Given the description of an element on the screen output the (x, y) to click on. 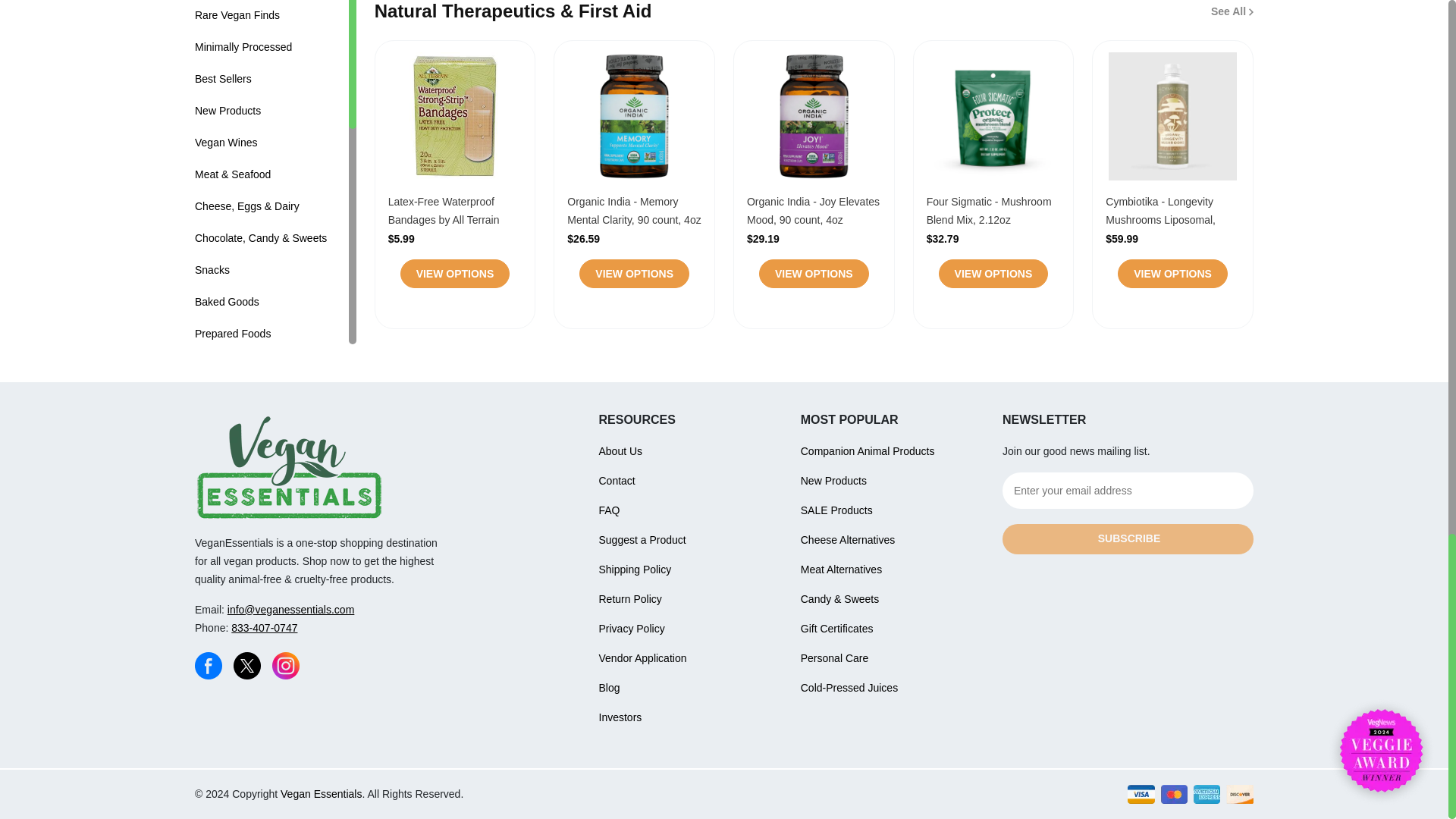
SUBSCRIBE (1128, 539)
